Given the description of an element on the screen output the (x, y) to click on. 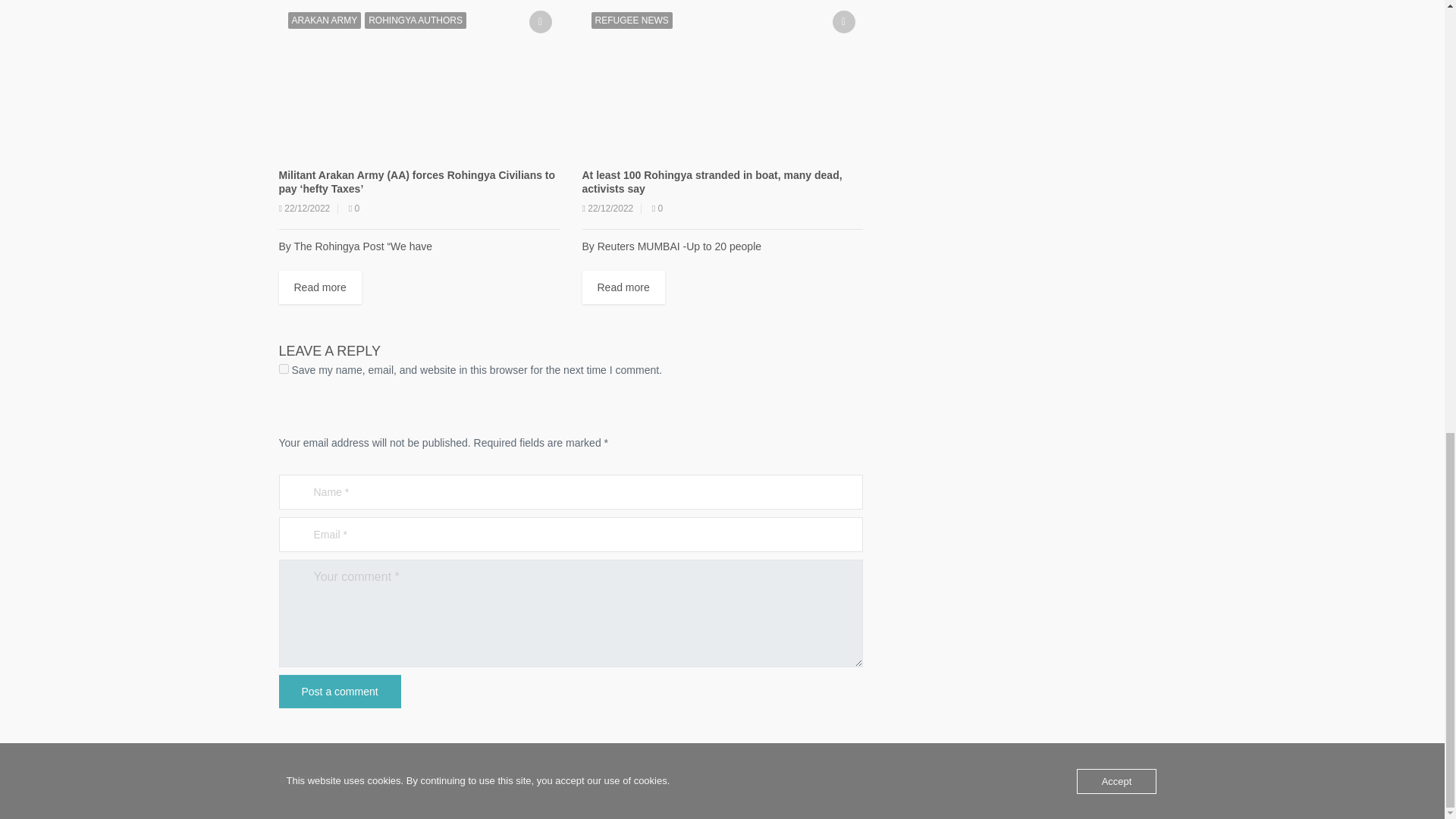
yes (283, 368)
ARAKAN ARMY (324, 20)
Post a comment (340, 691)
ROHINGYA AUTHORS (415, 20)
